Given the description of an element on the screen output the (x, y) to click on. 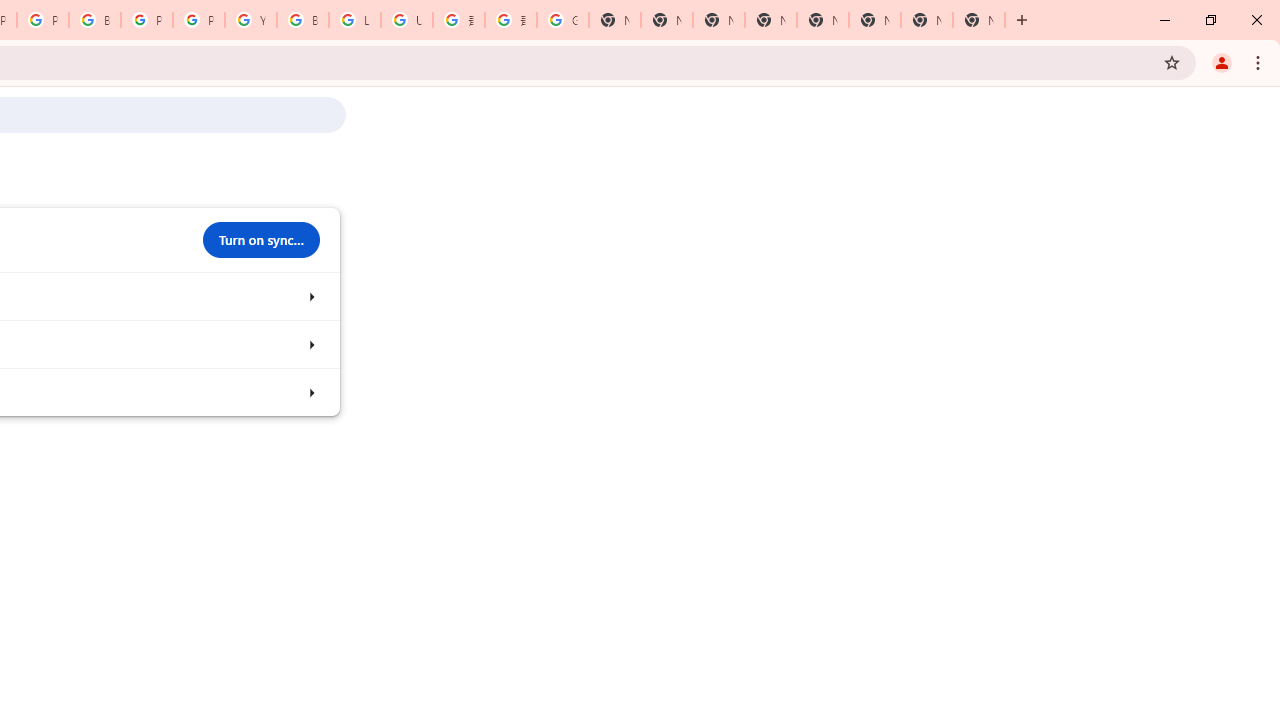
Google Images (562, 20)
Privacy Help Center - Policies Help (42, 20)
Customize your Chrome profile (310, 344)
